Given the description of an element on the screen output the (x, y) to click on. 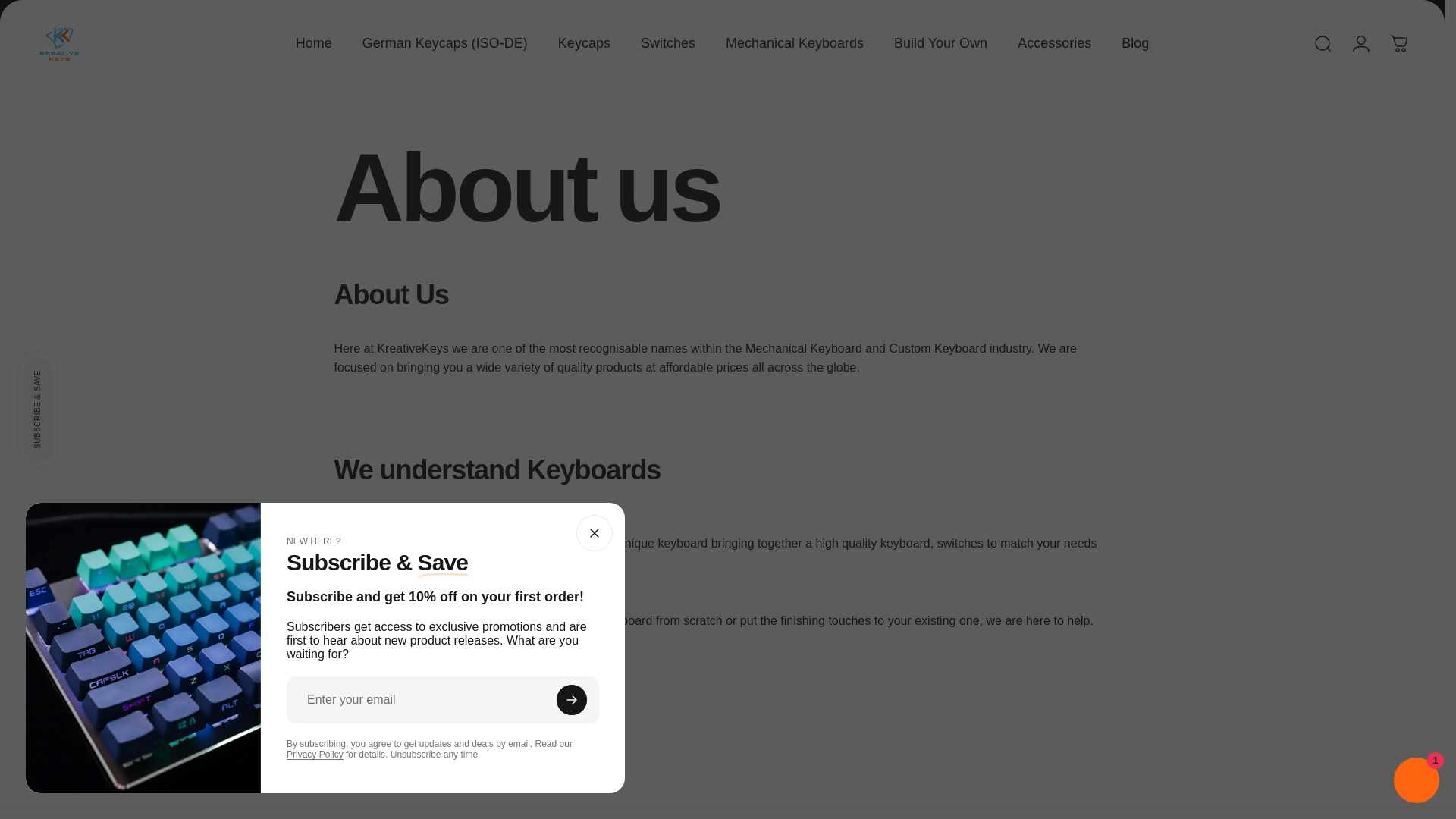
KreativeKeys (58, 43)
Shopify online store chat (1416, 781)
Home (314, 42)
Mechanical Keyboards (794, 42)
